Given the description of an element on the screen output the (x, y) to click on. 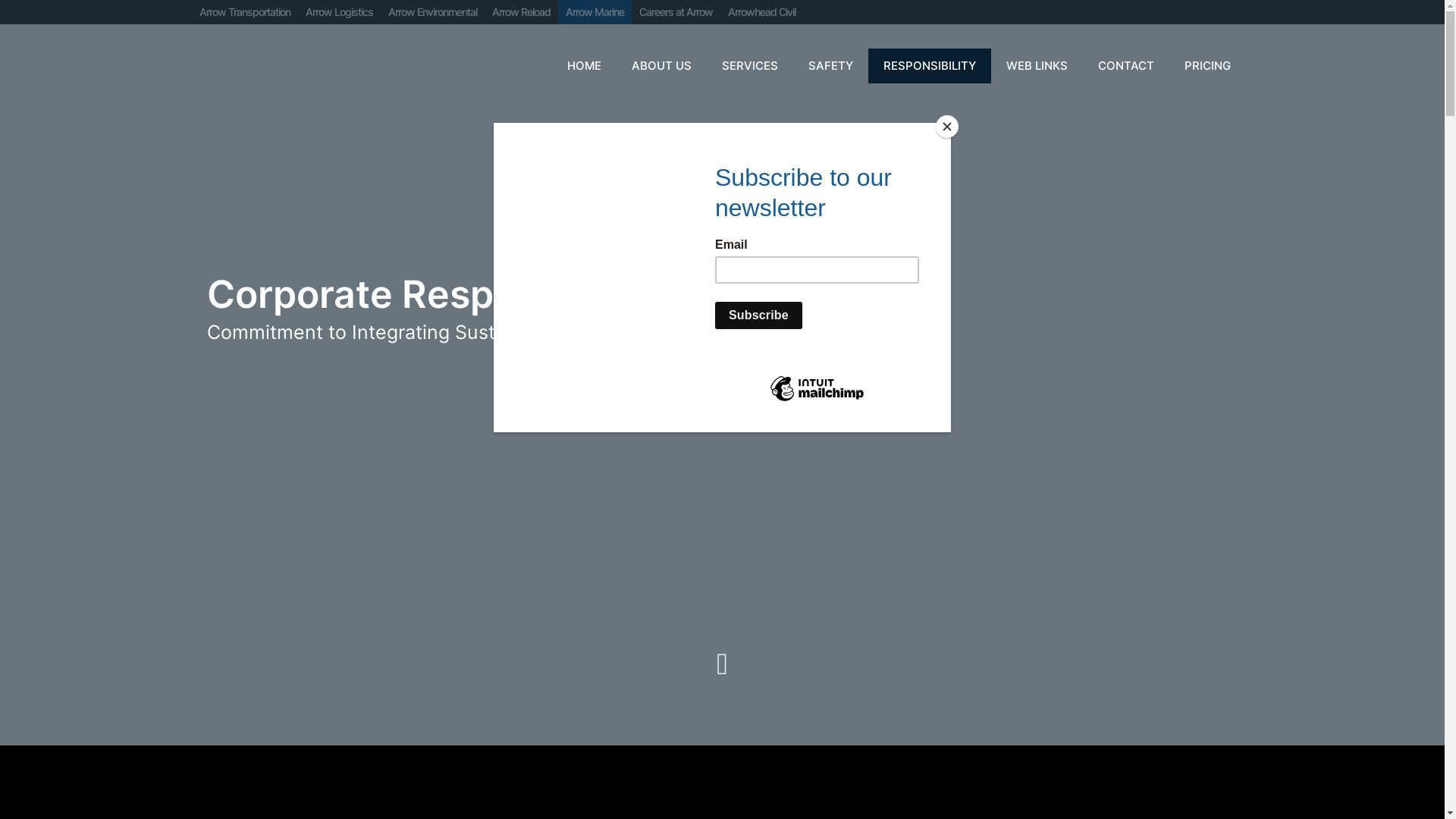
Arrowhead Civil Element type: text (761, 11)
Arrow Environmental Element type: text (432, 11)
Careers at Arrow Element type: text (675, 11)
Arrow Logistics Element type: text (338, 11)
WEB LINKS Element type: text (1036, 65)
Arrow Marine Element type: text (594, 11)
SERVICES Element type: text (749, 65)
PRICING Element type: text (1207, 65)
CONTACT Element type: text (1125, 65)
RESPONSIBILITY Element type: text (928, 65)
ABOUT US Element type: text (660, 65)
Arrow Reload Element type: text (520, 11)
SAFETY Element type: text (830, 65)
HOME Element type: text (584, 65)
Arrow Transportation Element type: text (243, 11)
